Given the description of an element on the screen output the (x, y) to click on. 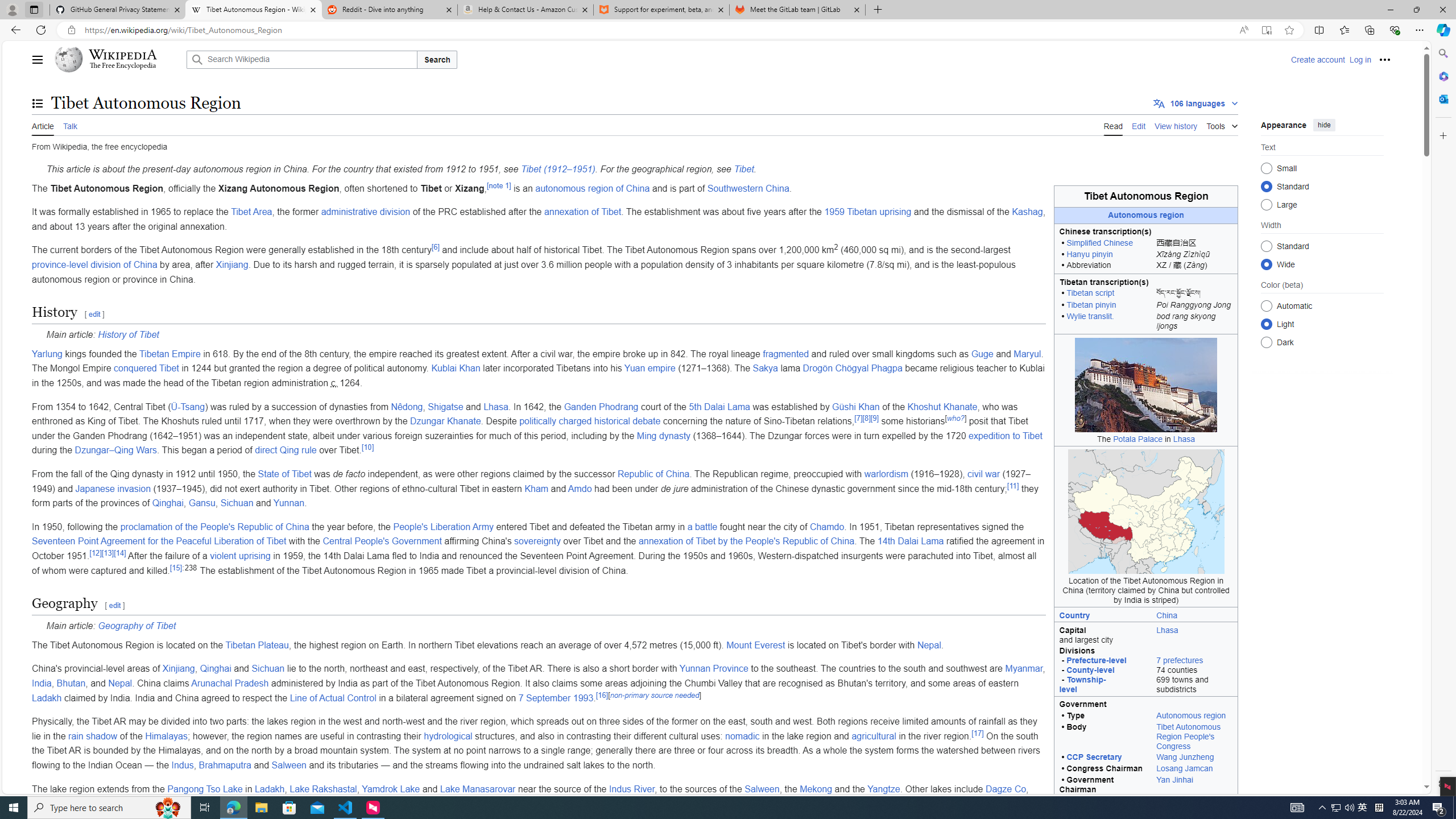
Losang Jamcan (1184, 768)
